Given the description of an element on the screen output the (x, y) to click on. 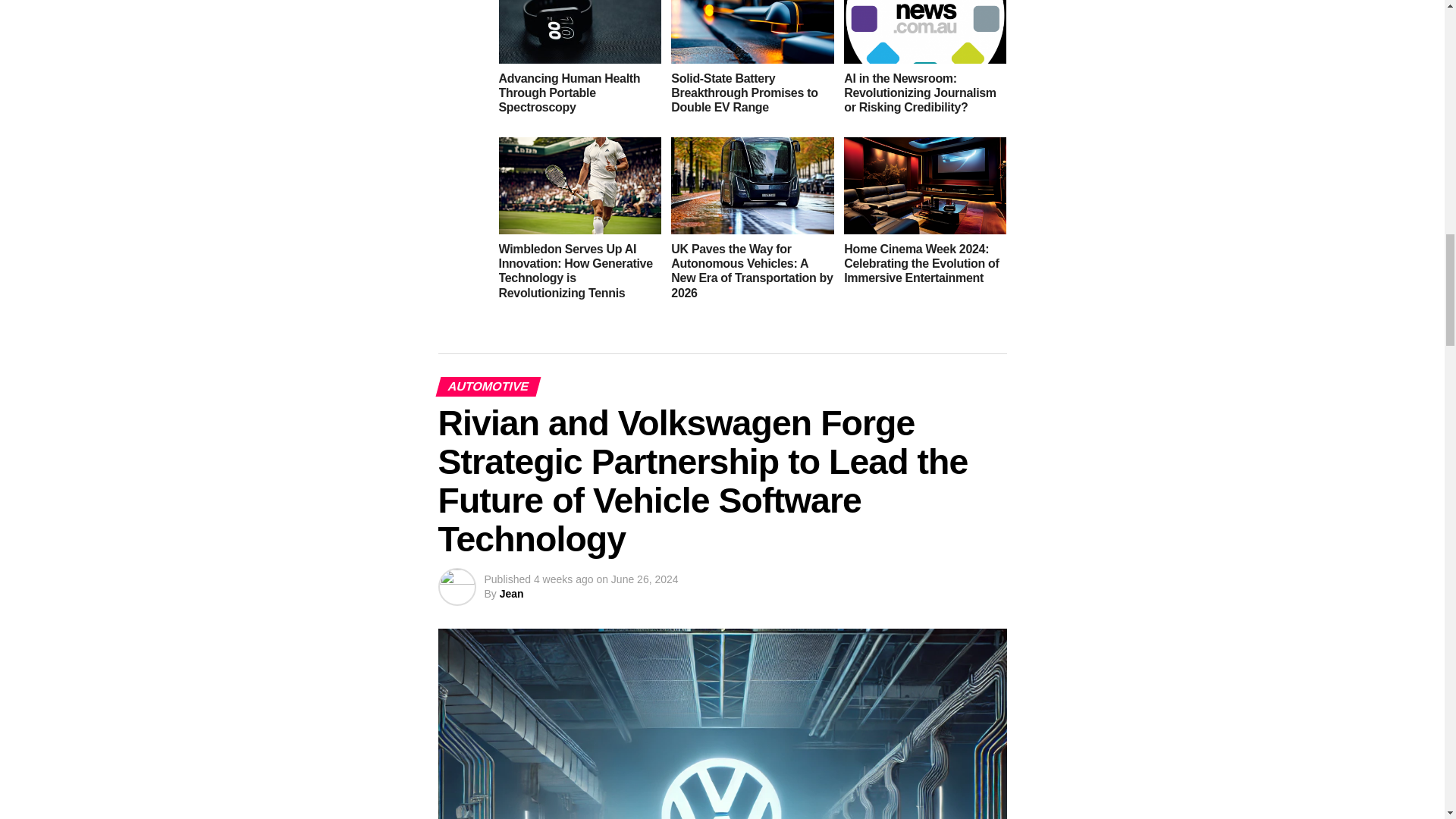
Posts by Jean (511, 593)
